Given the description of an element on the screen output the (x, y) to click on. 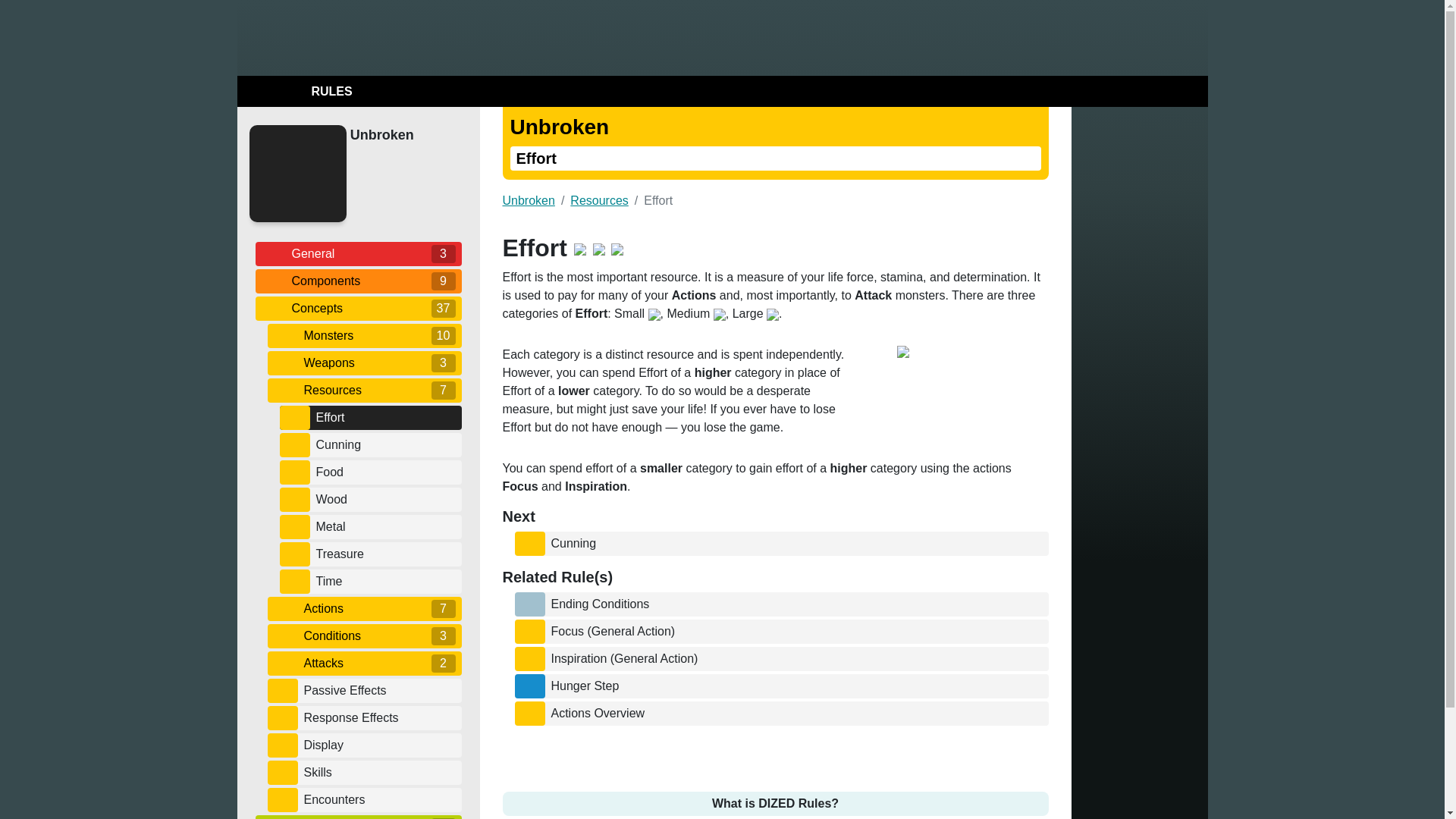
Concepts (357, 308)
Metal (384, 526)
  RULES (297, 90)
General (357, 253)
Monsters (363, 335)
Effort (384, 417)
Food (384, 471)
Cunning (384, 444)
Resources (363, 390)
Weapons (363, 362)
Unbroken (401, 135)
Wood (384, 498)
Components (357, 281)
